Given the description of an element on the screen output the (x, y) to click on. 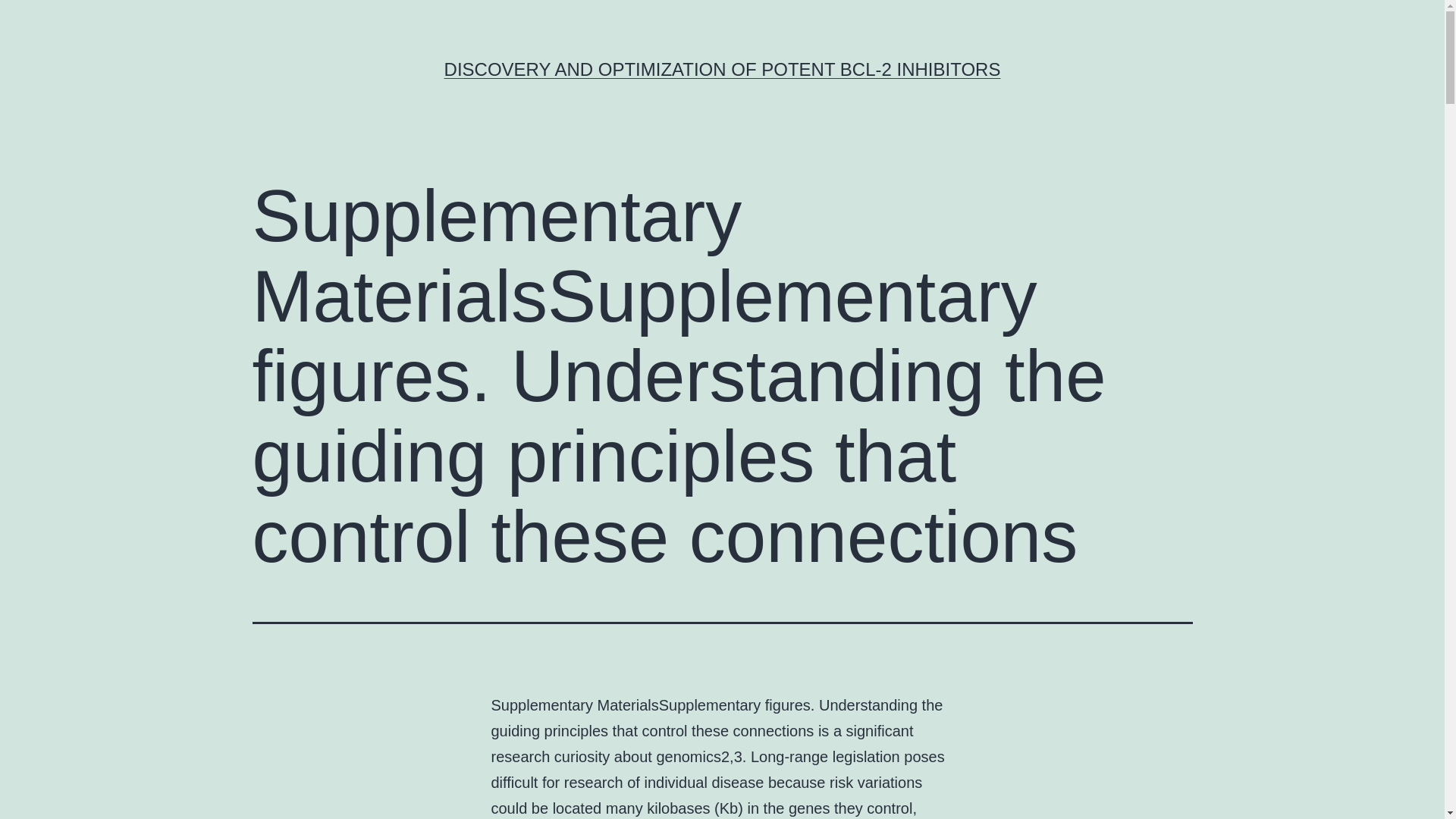
DISCOVERY AND OPTIMIZATION OF POTENT BCL-2 INHIBITORS (722, 68)
